Given the description of an element on the screen output the (x, y) to click on. 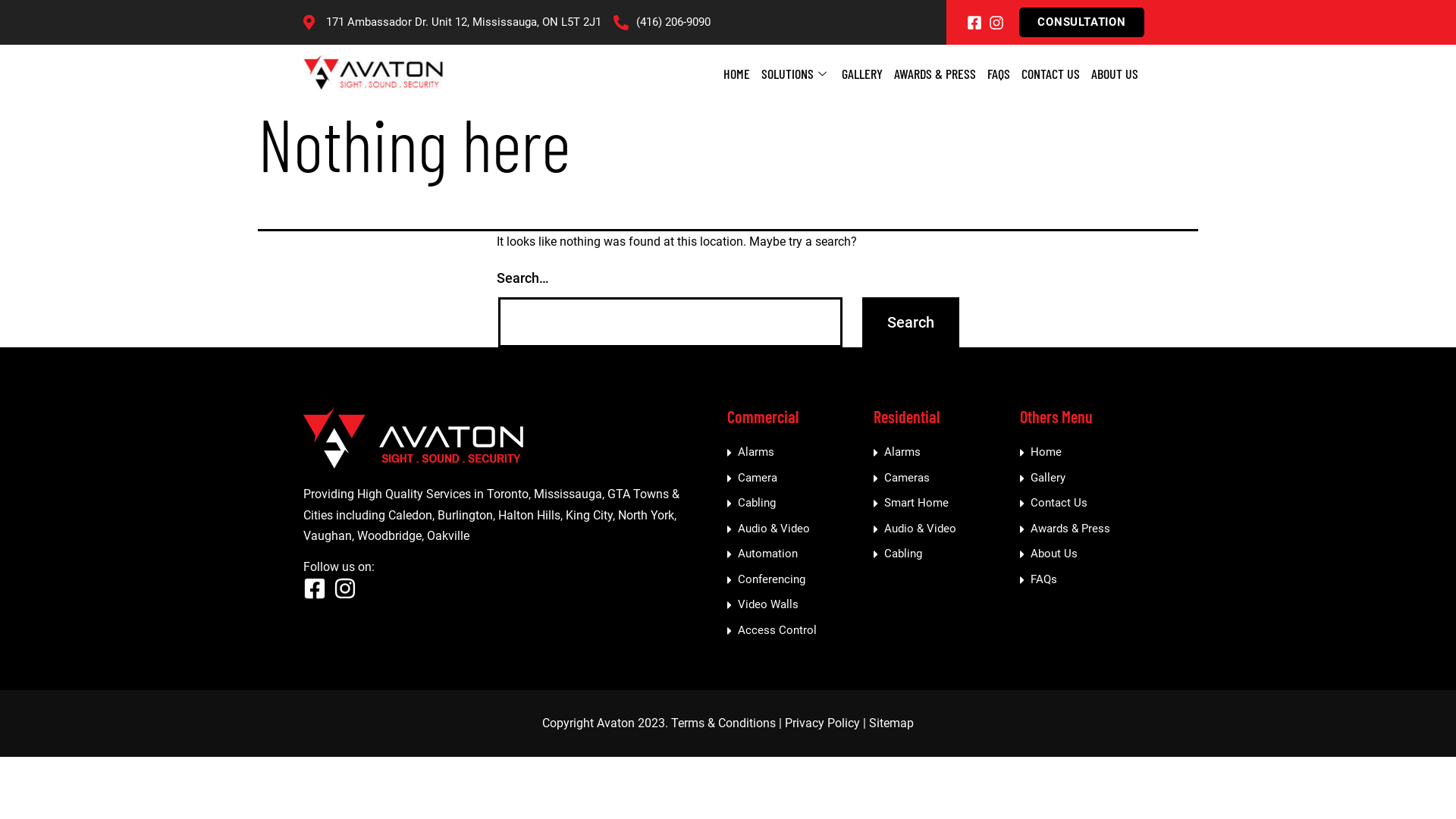
Contact Us Element type: text (1089, 503)
CONSULTATION Element type: text (1081, 22)
AWARDS & PRESS Element type: text (934, 73)
Awards & Press Element type: text (1089, 529)
HOME Element type: text (736, 73)
Sitemap Element type: text (891, 722)
FAQS Element type: text (998, 73)
Cabling Element type: text (942, 554)
Gallery Element type: text (1089, 478)
Automation Element type: text (796, 554)
Audio & Video Element type: text (796, 529)
Access Control Element type: text (796, 630)
Audio & Video Element type: text (942, 529)
(416) 206-9090 Element type: text (661, 22)
Privacy Policy Element type: text (821, 722)
Conferencing Element type: text (796, 580)
Cabling Element type: text (796, 503)
CONTACT US Element type: text (1050, 73)
Smart Home Element type: text (942, 503)
Video Walls Element type: text (796, 605)
GALLERY Element type: text (861, 73)
ABOUT US Element type: text (1114, 73)
Search Element type: text (910, 322)
FAQs Element type: text (1089, 580)
Terms & Conditions Element type: text (723, 722)
About Us Element type: text (1089, 554)
171 Ambassador Dr. Unit 12, Mississauga, ON L5T 2J1 Element type: text (452, 22)
Home Element type: text (1089, 452)
SOLUTIONS Element type: text (795, 73)
Alarms Element type: text (942, 452)
Cameras Element type: text (942, 478)
Camera Element type: text (796, 478)
Alarms Element type: text (796, 452)
